Given the description of an element on the screen output the (x, y) to click on. 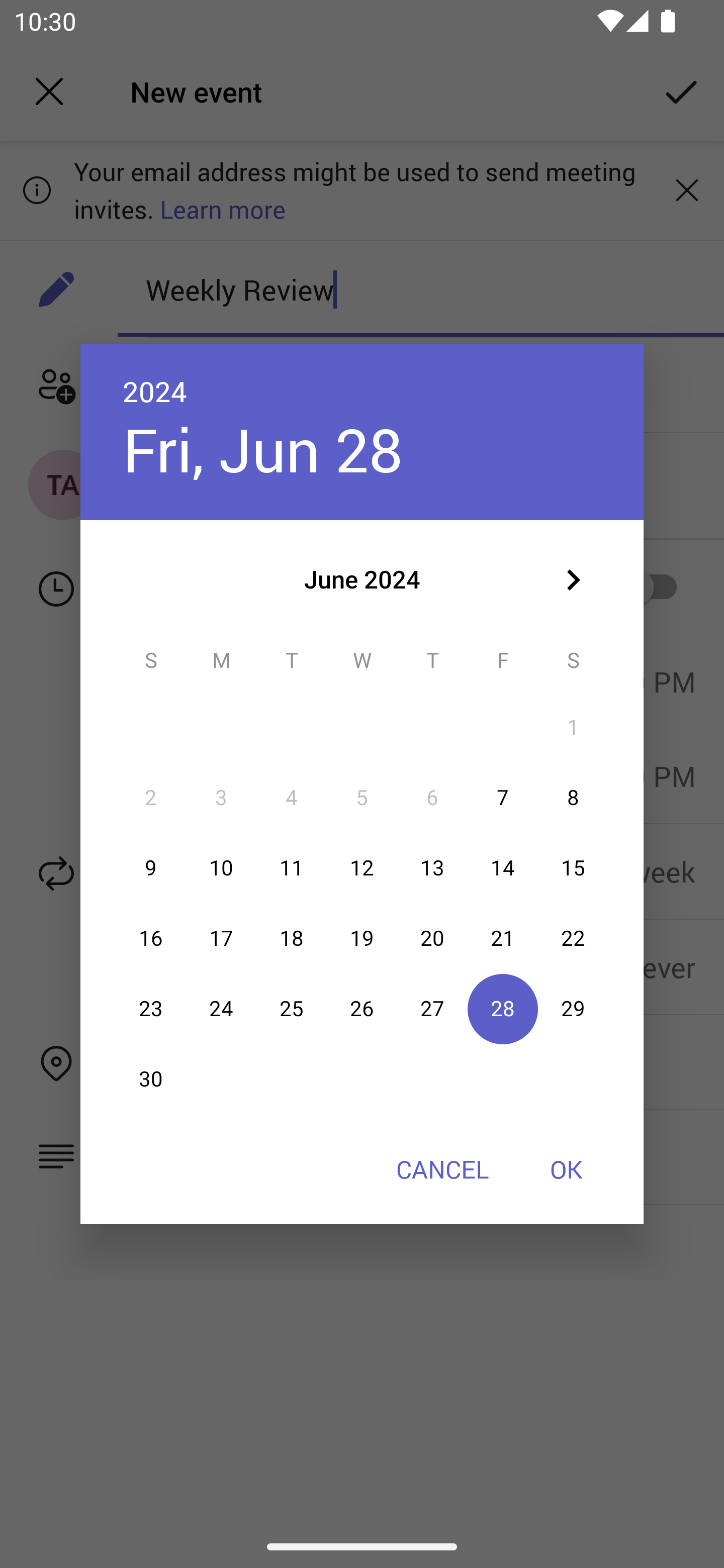
2024 (154, 391)
Fri, Jun 28 (262, 449)
Next month (572, 579)
1 01 June 2024 (572, 728)
2 02 June 2024 (150, 797)
3 03 June 2024 (221, 797)
4 04 June 2024 (291, 797)
5 05 June 2024 (361, 797)
6 06 June 2024 (432, 797)
7 07 June 2024 (502, 797)
8 08 June 2024 (572, 797)
9 09 June 2024 (150, 867)
10 10 June 2024 (221, 867)
11 11 June 2024 (291, 867)
12 12 June 2024 (361, 867)
13 13 June 2024 (432, 867)
14 14 June 2024 (502, 867)
15 15 June 2024 (572, 867)
16 16 June 2024 (150, 938)
17 17 June 2024 (221, 938)
18 18 June 2024 (291, 938)
19 19 June 2024 (361, 938)
20 20 June 2024 (432, 938)
21 21 June 2024 (502, 938)
22 22 June 2024 (572, 938)
23 23 June 2024 (150, 1008)
24 24 June 2024 (221, 1008)
25 25 June 2024 (291, 1008)
26 26 June 2024 (361, 1008)
27 27 June 2024 (432, 1008)
28 28 June 2024 (502, 1008)
29 29 June 2024 (572, 1008)
30 30 June 2024 (150, 1079)
CANCEL (442, 1168)
OK (565, 1168)
